Given the description of an element on the screen output the (x, y) to click on. 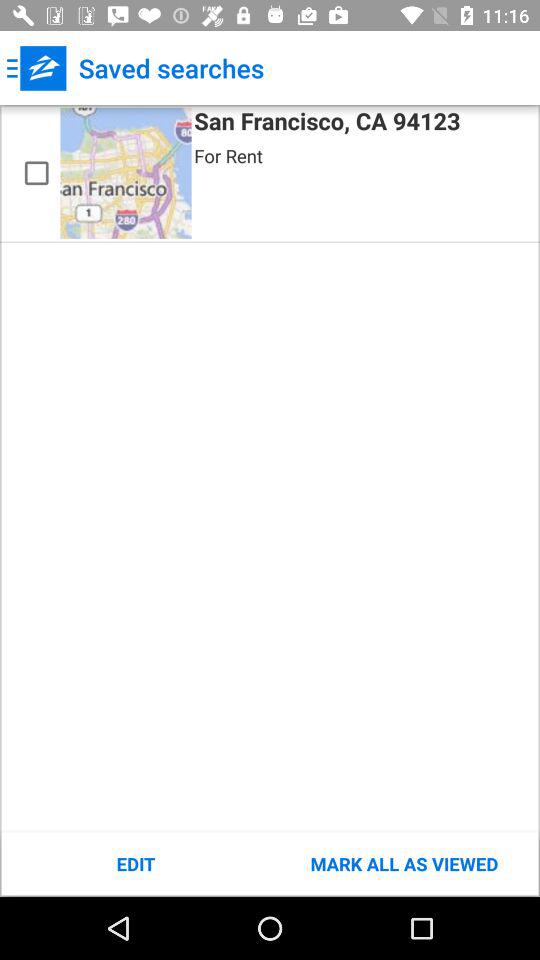
select san francisco (36, 173)
